Given the description of an element on the screen output the (x, y) to click on. 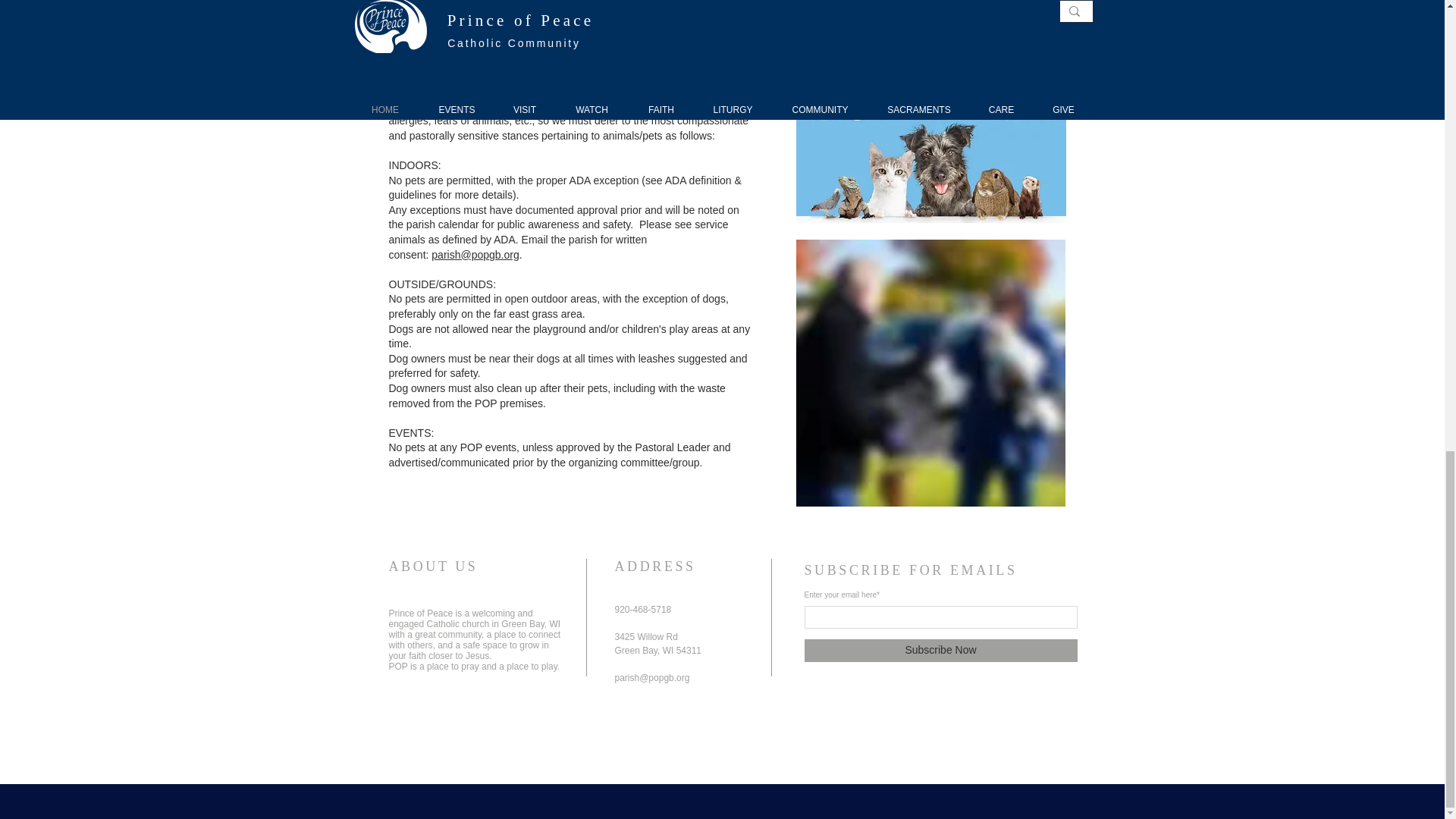
Subscribe Now (940, 650)
